Given the description of an element on the screen output the (x, y) to click on. 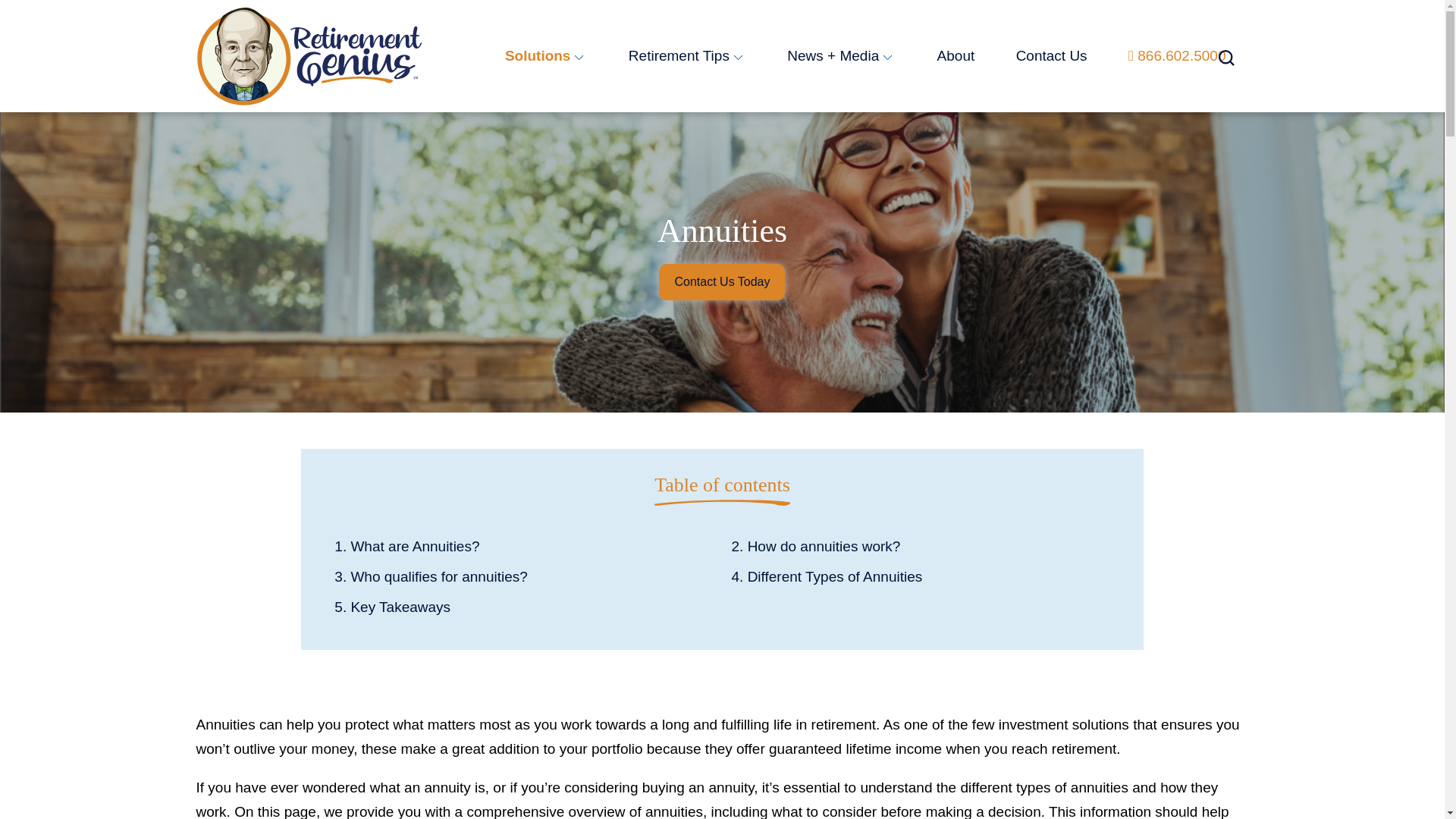
Different Types of Annuities (920, 579)
Solutions (546, 55)
Contact Us Today (721, 281)
How do annuities work? (920, 548)
Contact Us (1051, 55)
866.602.5000 (1181, 55)
Key Takeaways (523, 609)
About (956, 55)
Retirement Tips (686, 55)
Who qualifies for annuities? (523, 579)
What are Annuities? (523, 548)
